Given the description of an element on the screen output the (x, y) to click on. 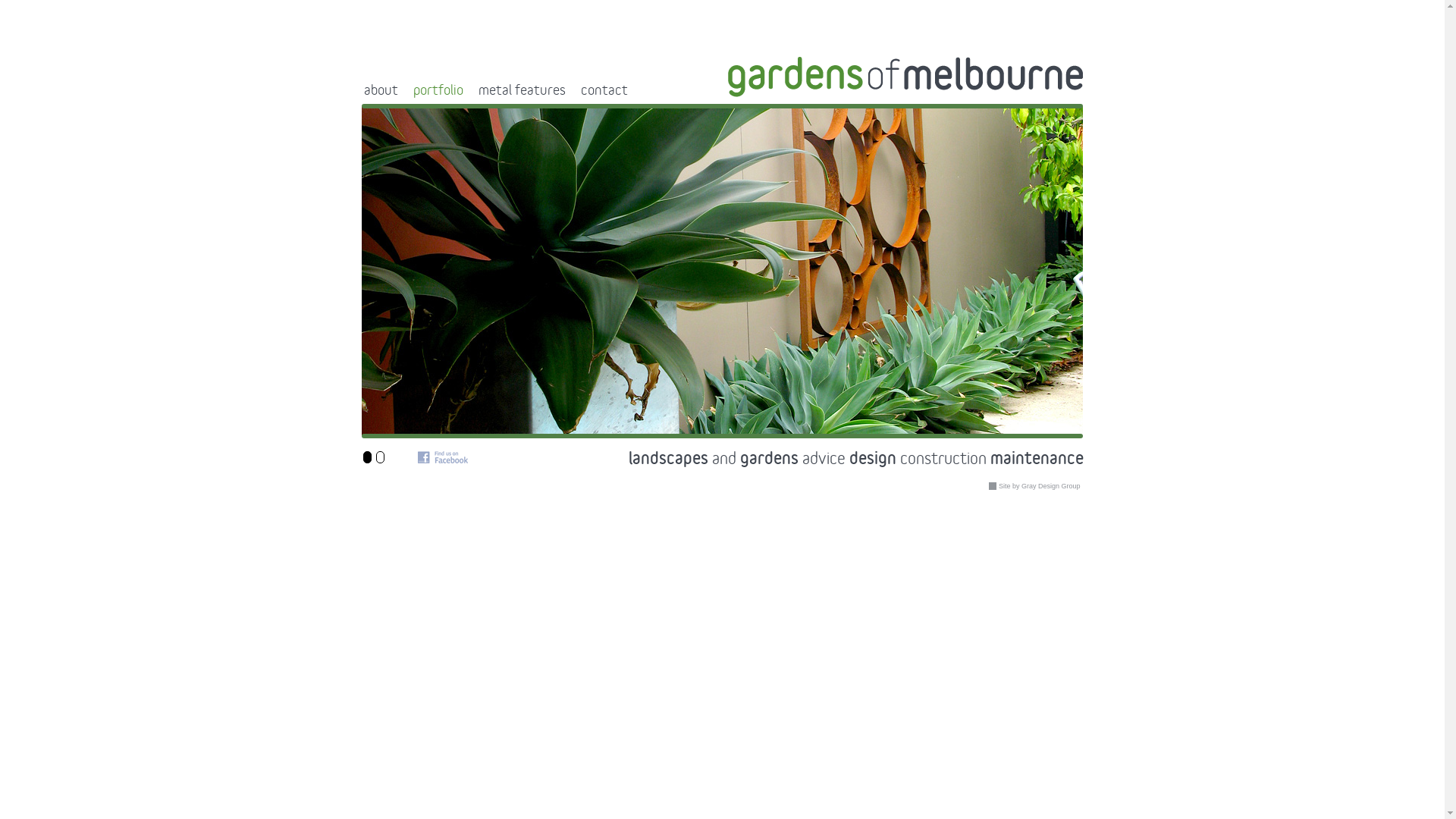
wheelers hill Element type: text (1029, 93)
canterbury Element type: text (484, 93)
Find us on facebook Element type: text (442, 457)
metal features Element type: text (525, 79)
south yarra Element type: text (901, 93)
portsea Element type: text (834, 93)
Site by Gray Design Group Element type: text (1035, 485)
st kilda Element type: text (965, 93)
black theme Element type: text (366, 457)
camberwell Element type: text (412, 93)
my place Element type: text (776, 93)
of Element type: text (905, 76)
clifton hill Element type: text (553, 93)
portfolio Element type: text (442, 79)
about Element type: text (385, 79)
contact Element type: text (608, 79)
white theme Element type: text (380, 457)
elwood Element type: text (613, 93)
hawthorn Element type: text (672, 93)
kew Element type: text (725, 93)
